Given the description of an element on the screen output the (x, y) to click on. 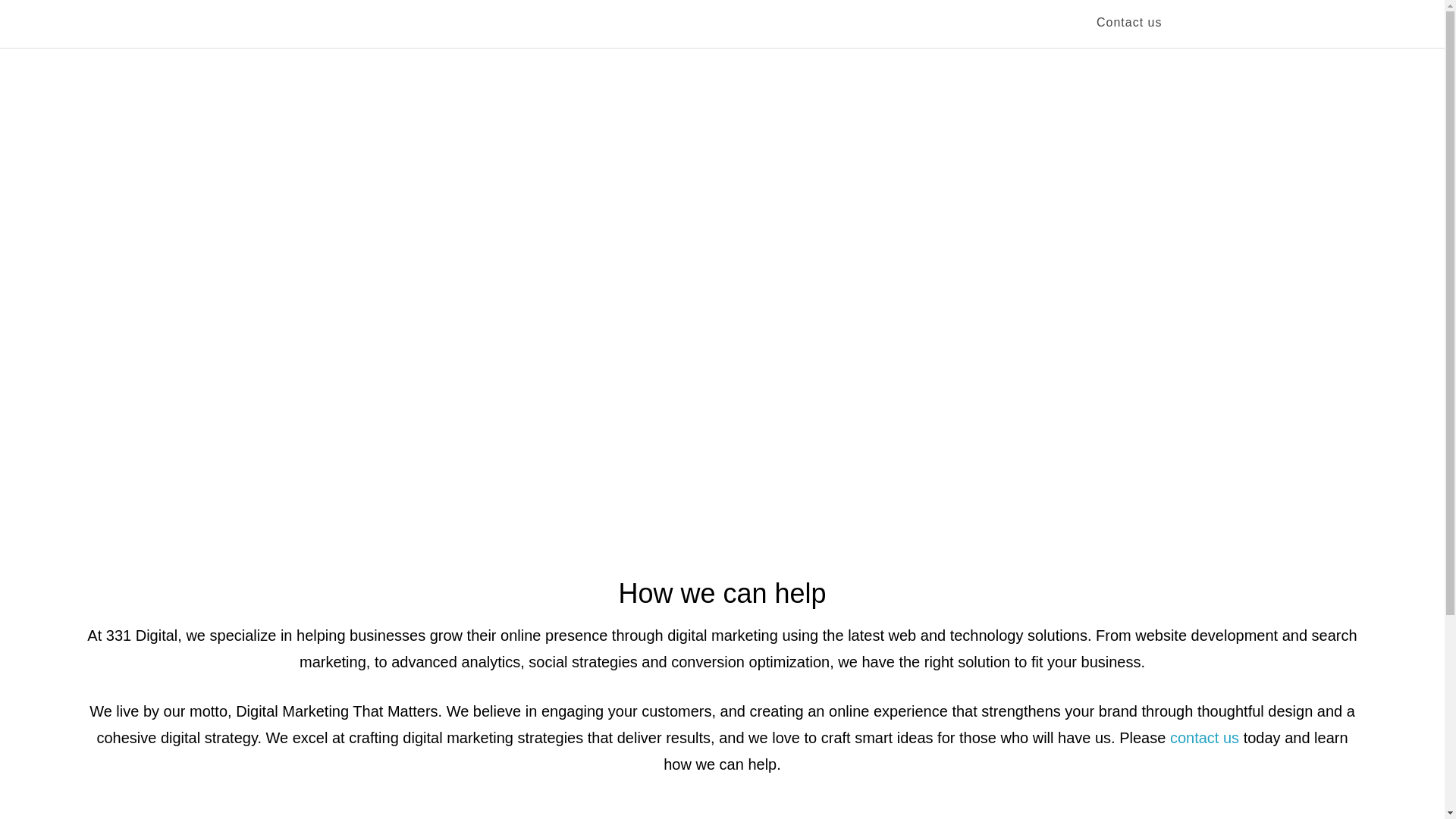
331 DIGITAL Element type: text (402, 23)
LEARN MORE Element type: text (721, 342)
Contact us Element type: text (1128, 23)
contact us Element type: text (1204, 737)
